Given the description of an element on the screen output the (x, y) to click on. 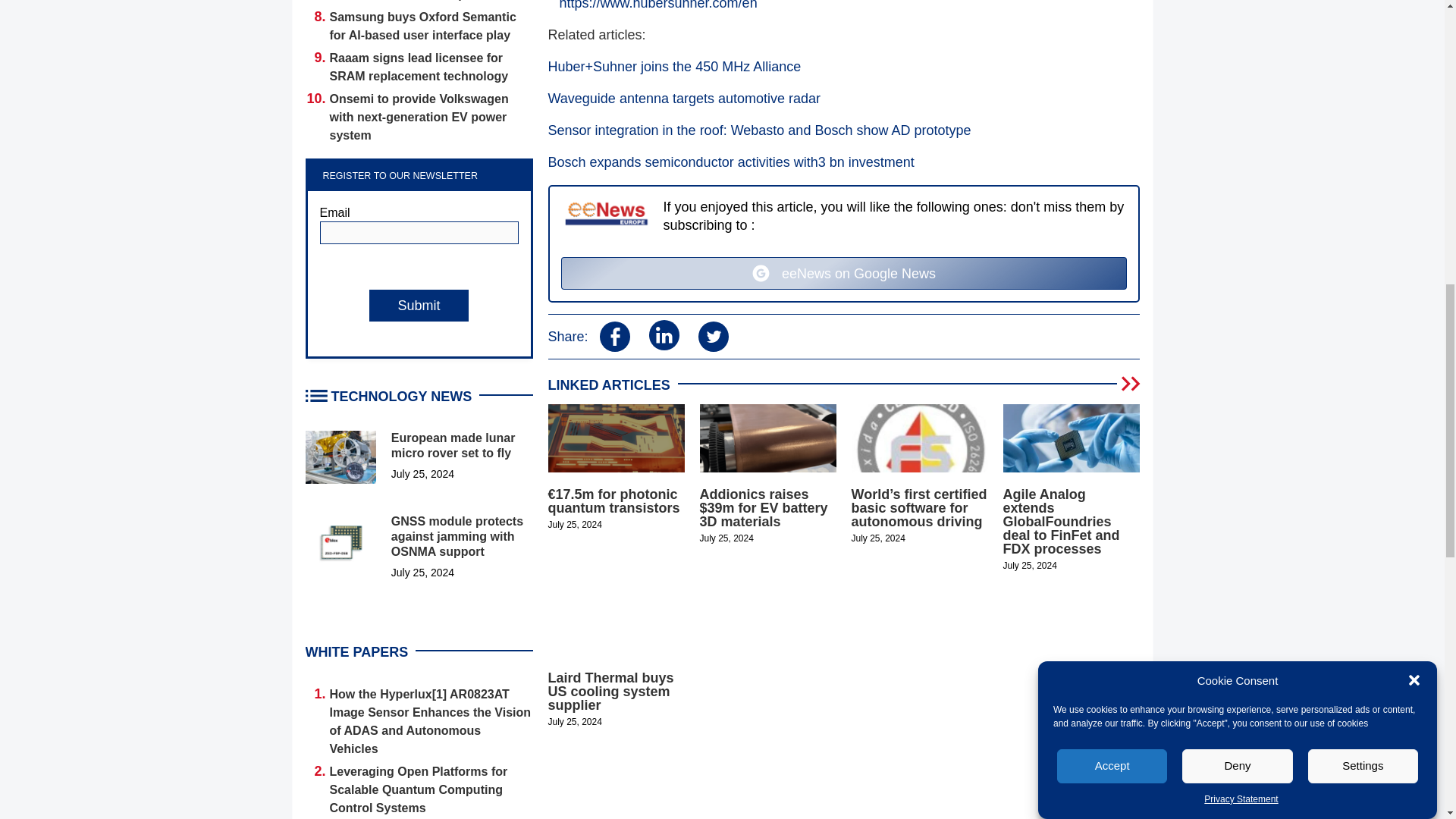
Settings (1362, 121)
Privacy Statement (1241, 83)
Accept (1112, 173)
Deny (1237, 145)
Submit (418, 305)
